Given the description of an element on the screen output the (x, y) to click on. 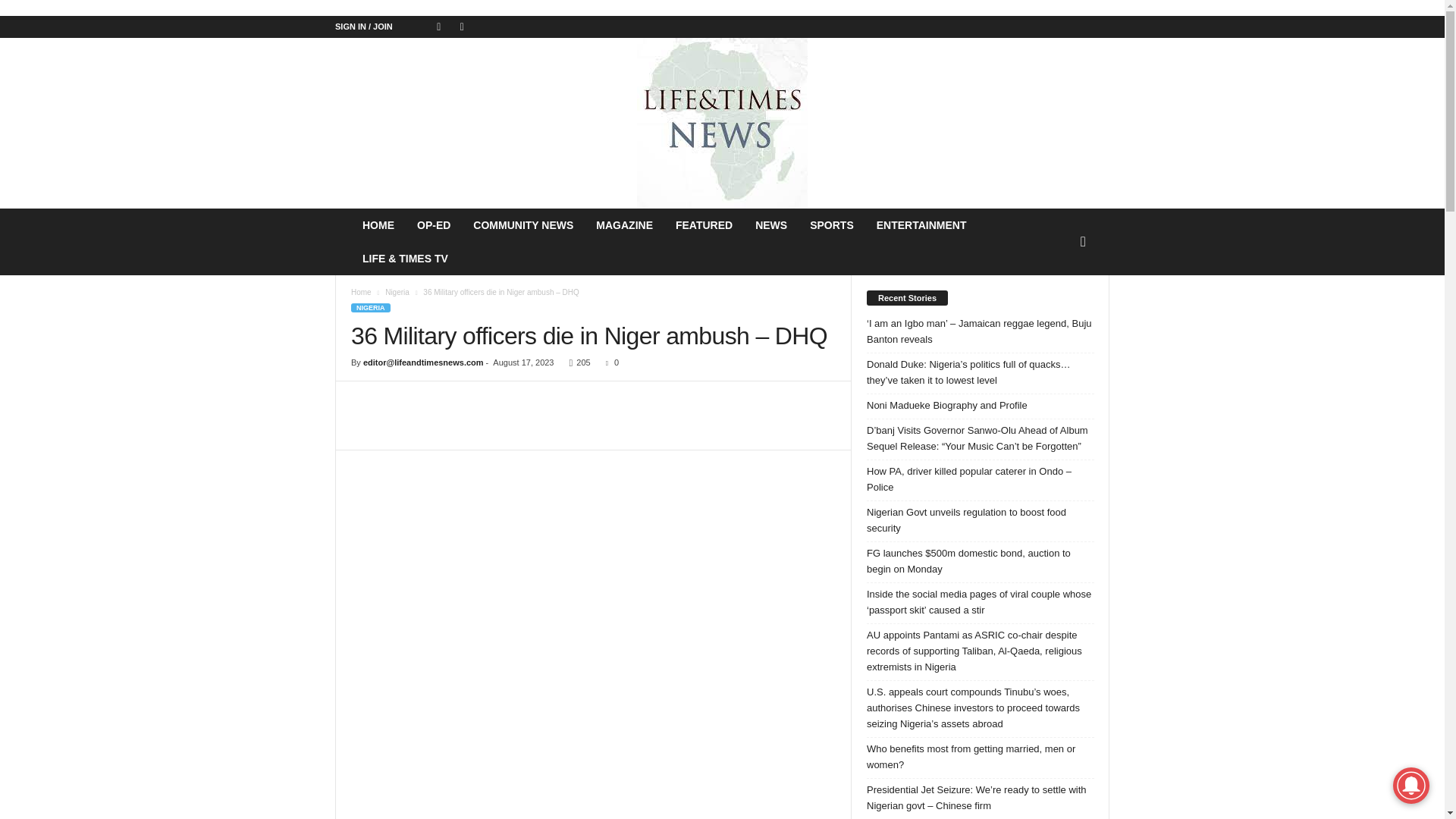
FEATURED (703, 224)
0 (608, 361)
SPORTS (830, 224)
View all posts in Nigeria (397, 292)
Home (360, 292)
COMMUNITY NEWS (523, 224)
NEWS (770, 224)
ENTERTAINMENT (921, 224)
Nigeria (397, 292)
HOME (378, 224)
